Given the description of an element on the screen output the (x, y) to click on. 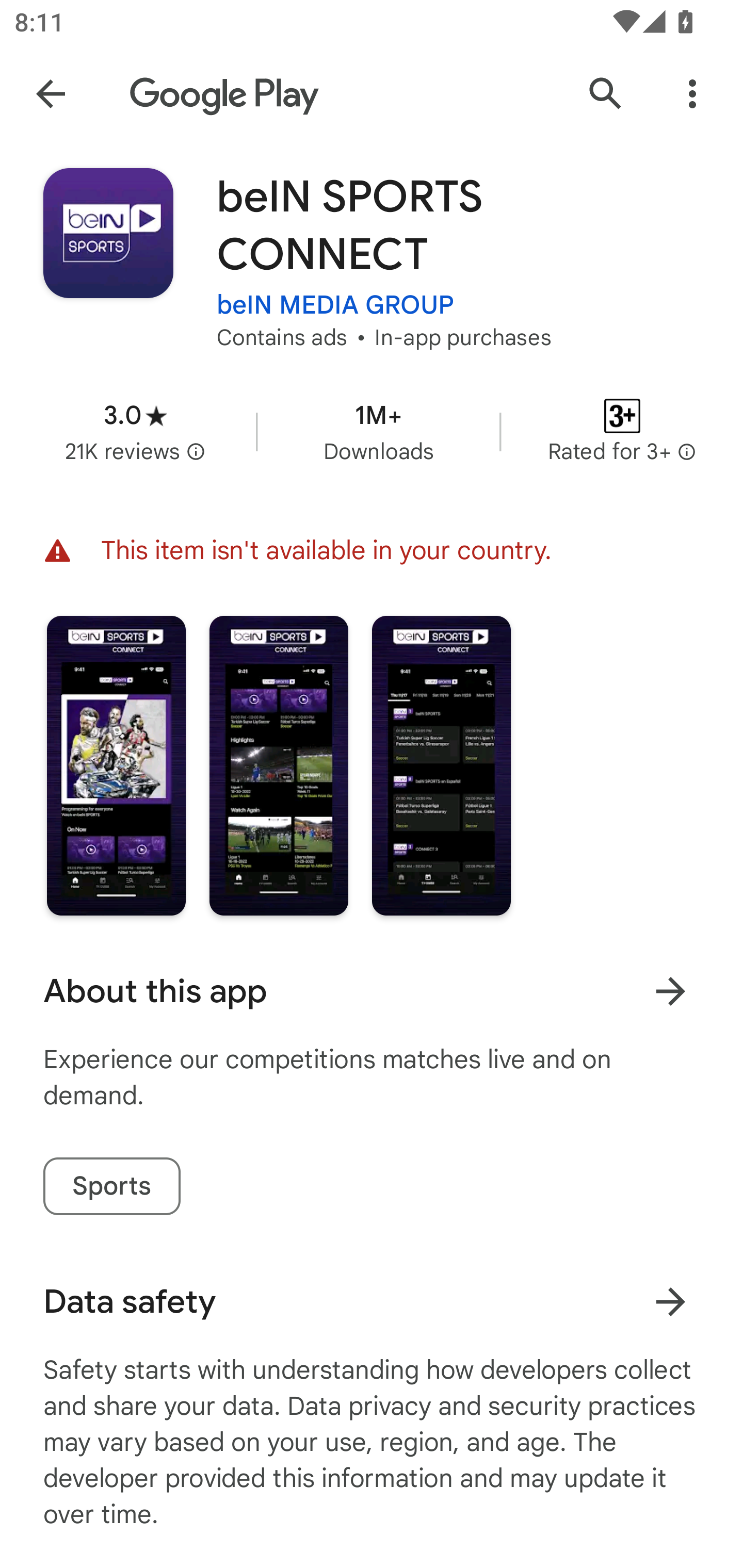
Navigate up (50, 93)
Search Google Play (605, 93)
More Options (692, 93)
beIN MEDIA GROUP (334, 304)
Average rating 3.0 stars in 21 thousand reviews (135, 431)
Content rating Rated for 3+ (622, 431)
Screenshot "1" of "3" (115, 765)
Screenshot "2" of "3" (278, 765)
Screenshot "3" of "3" (441, 765)
About this app Learn more About this app (371, 990)
Learn more About this app (670, 991)
Sports tag (111, 1186)
Data safety Learn more about data safety (371, 1301)
Learn more about data safety (670, 1302)
